Given the description of an element on the screen output the (x, y) to click on. 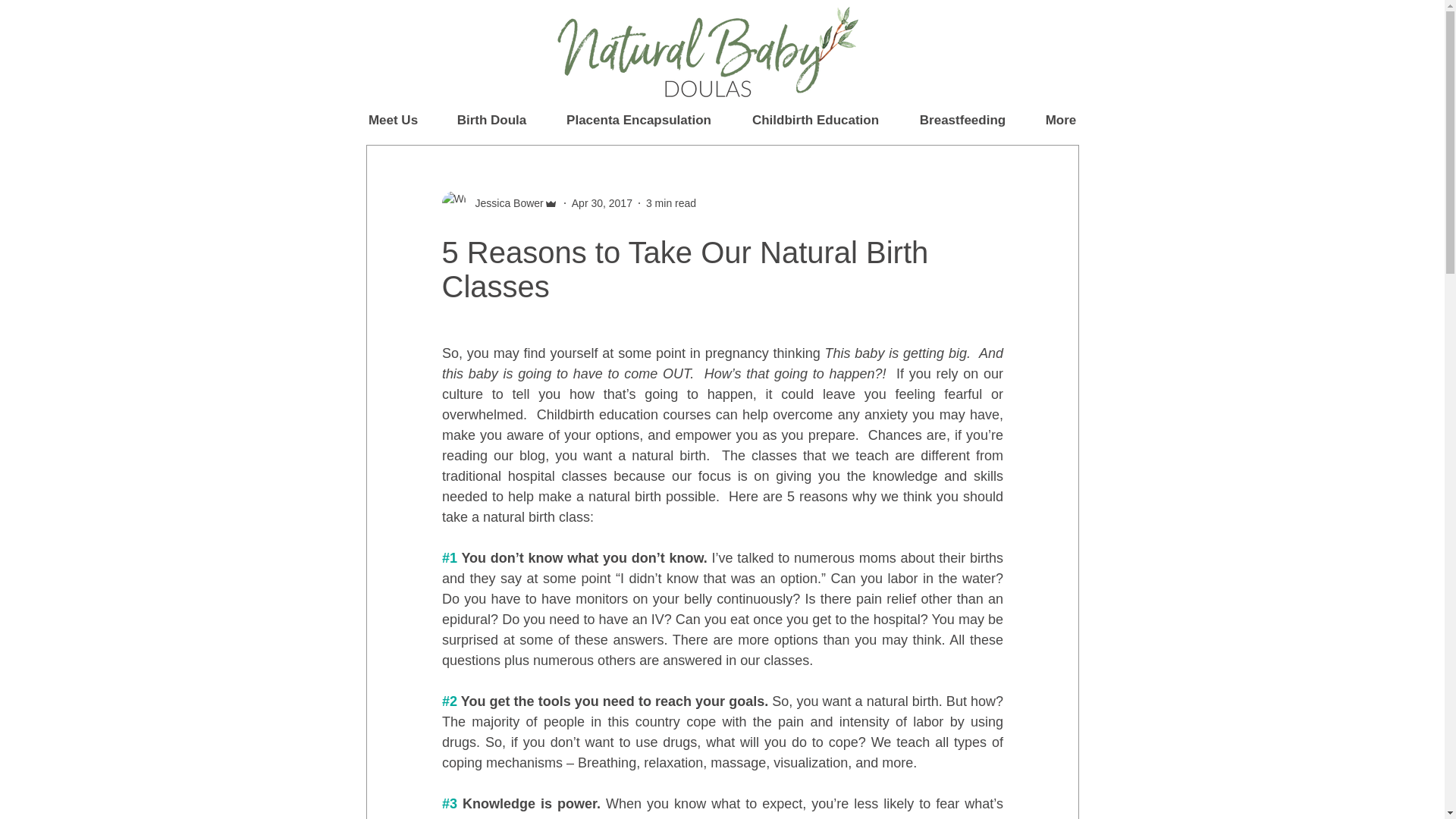
Apr 30, 2017 (601, 203)
Meet Us (392, 119)
3 min read (670, 203)
Childbirth Education (814, 119)
Breastfeeding (962, 119)
Jessica  Bower (504, 203)
Birth Doula (491, 119)
Placenta Encapsulation (638, 119)
